Given the description of an element on the screen output the (x, y) to click on. 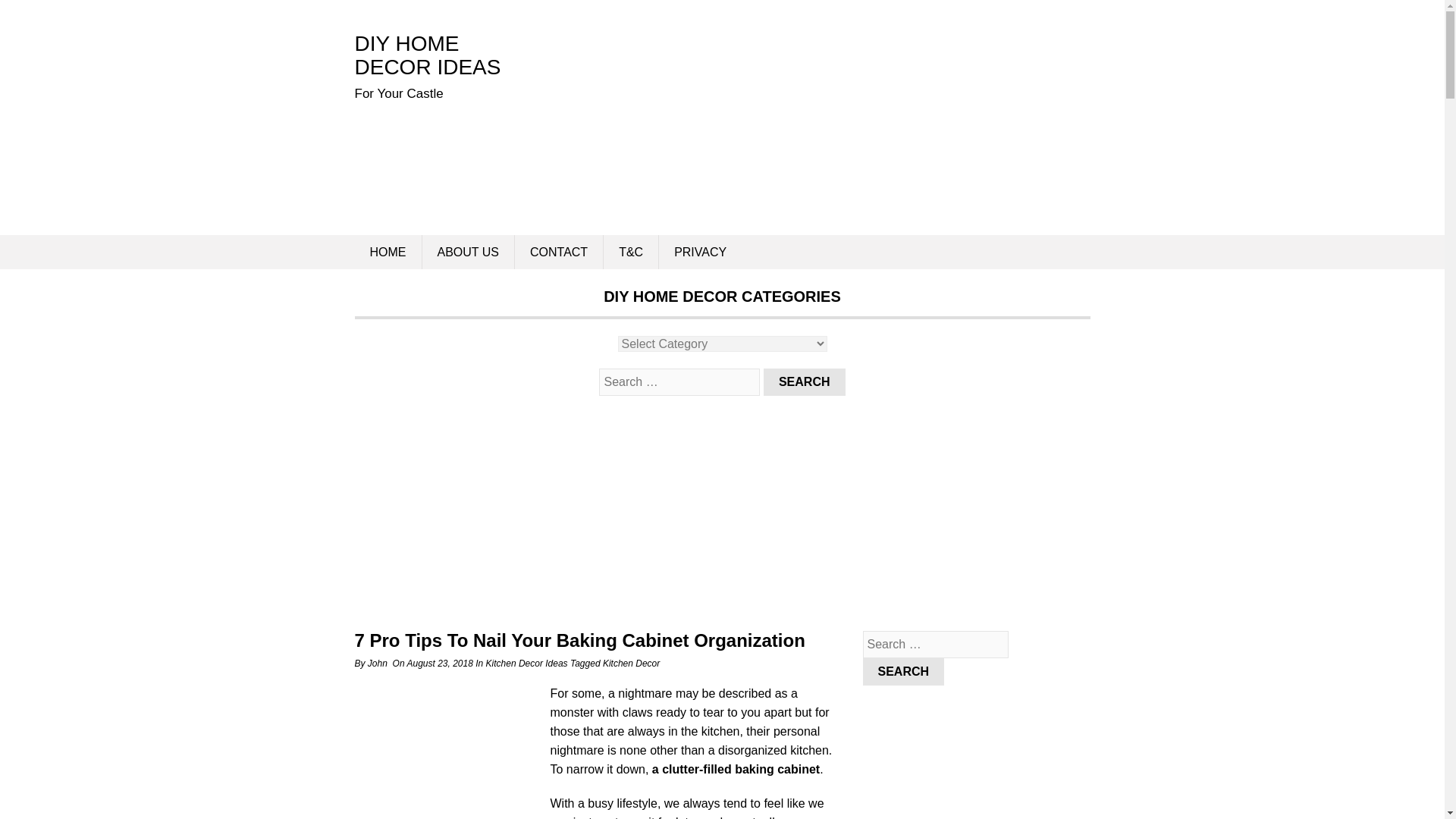
Search (803, 381)
For Your Castle (427, 54)
Kitchen Decor (630, 663)
Search (803, 381)
John (377, 663)
CONTACT (558, 252)
Search (803, 381)
PRIVACY (700, 252)
Advertisement (449, 754)
Search (903, 671)
August 23, 2018 (438, 663)
HOME (388, 252)
Kitchen Decor Ideas (526, 663)
ABOUT US (467, 252)
